Given the description of an element on the screen output the (x, y) to click on. 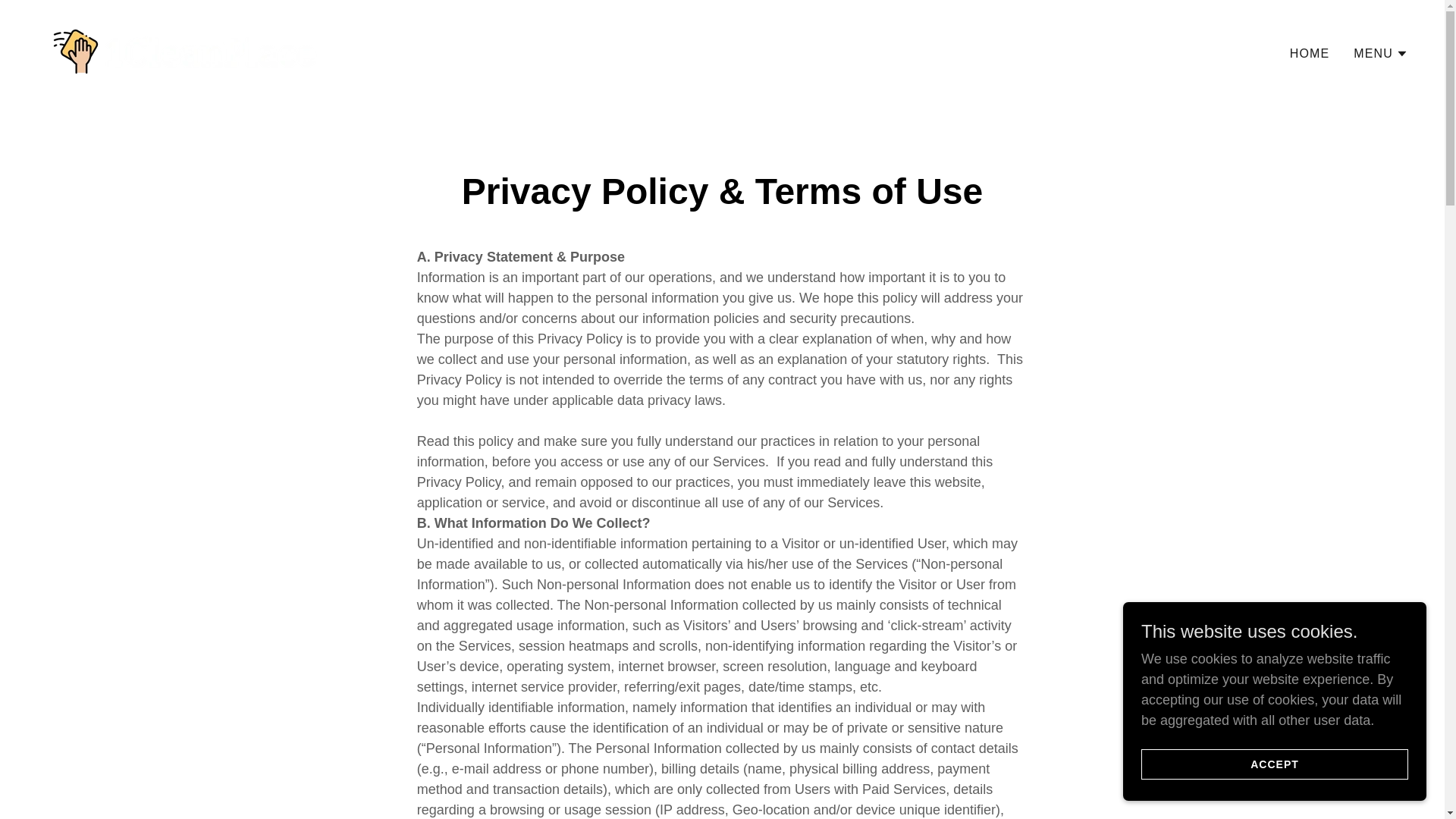
MENU Element type: text (1380, 52)
HOME Element type: text (1309, 52)
ACCEPT Element type: text (1274, 764)
1CleanPlace Element type: hover (184, 50)
